Given the description of an element on the screen output the (x, y) to click on. 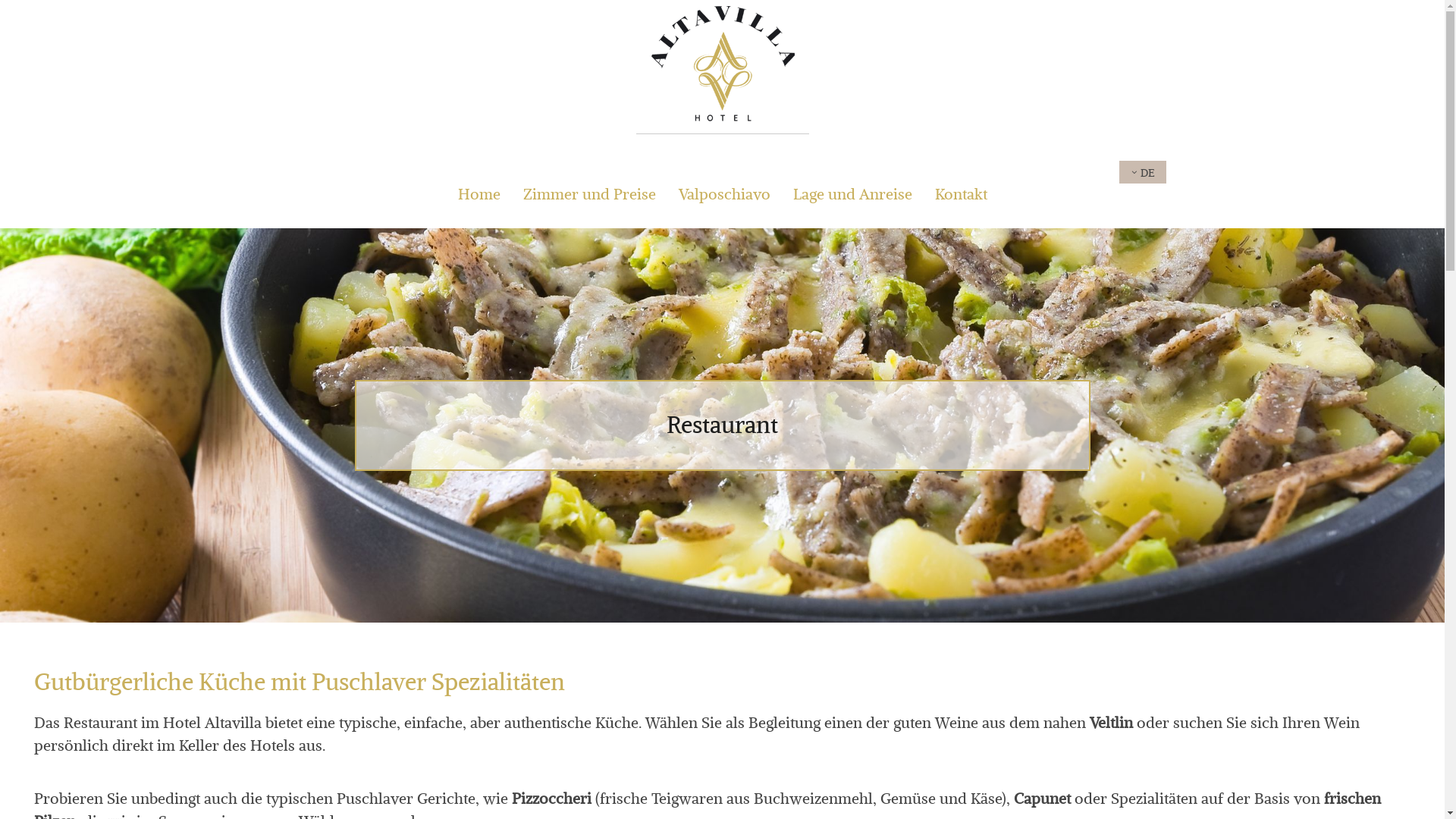
Lage und Anreise Element type: text (852, 194)
Valposchiavo Element type: text (723, 194)
Home Element type: text (479, 194)
Kontakt Element type: text (960, 194)
DE Element type: text (1142, 172)
Zimmer und Preise Element type: text (589, 194)
